Given the description of an element on the screen output the (x, y) to click on. 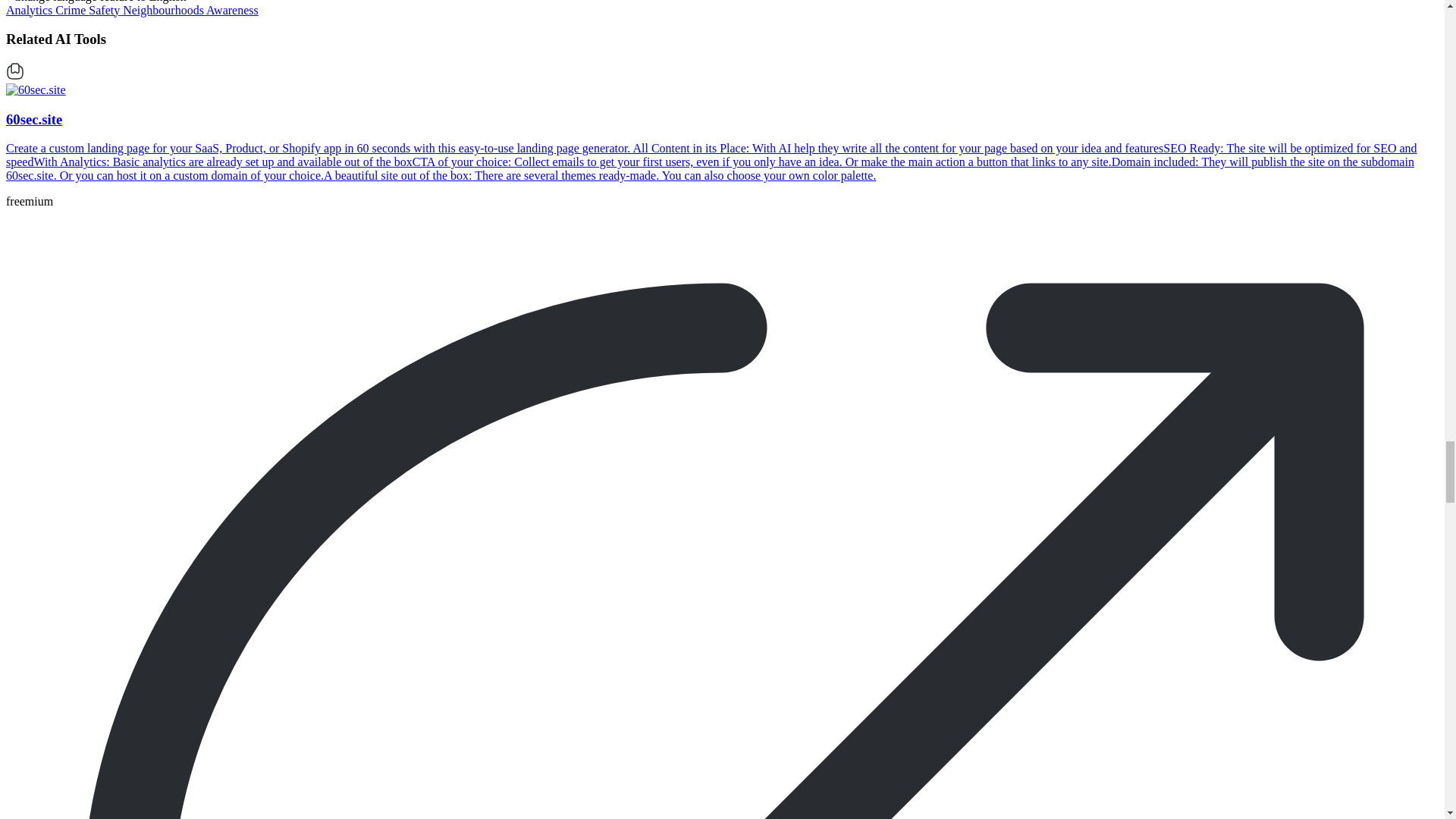
Analytics (30, 10)
Safety (105, 10)
Awareness (232, 10)
Neighbourhoods (164, 10)
Crime (71, 10)
